Given the description of an element on the screen output the (x, y) to click on. 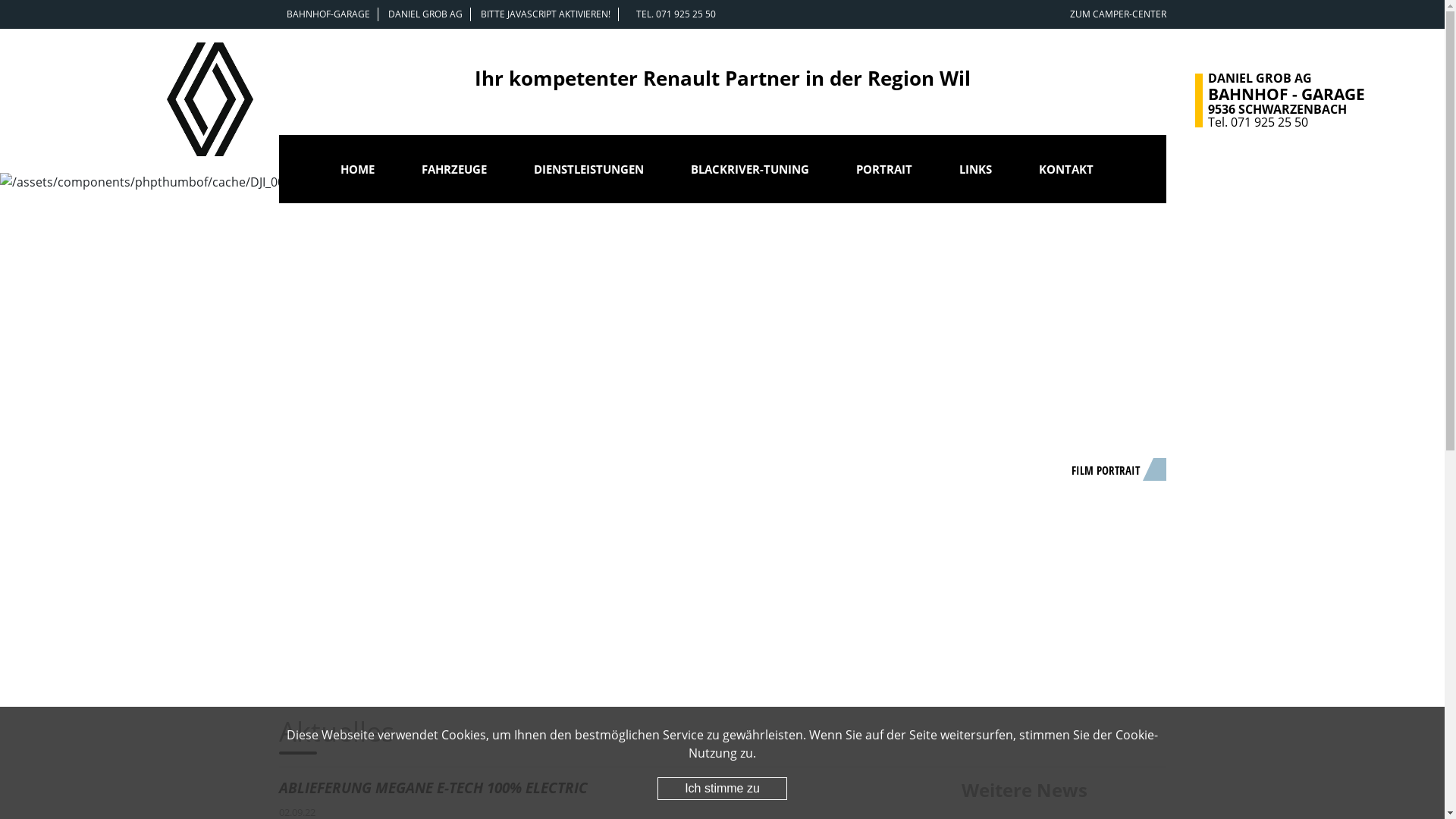
DIENSTLEISTUNGEN Element type: text (588, 170)
KONTAKT Element type: text (1065, 170)
BLACKRIVER-TUNING Element type: text (749, 170)
PORTRAIT Element type: text (883, 170)
LINKS Element type: text (974, 170)
HOME Element type: text (356, 170)
Ich stimme zu Element type: text (722, 788)
Tel. 071 925 25 50 Element type: text (1258, 121)
FILM PORTRAIT Element type: text (1113, 469)
Bahnhof Garage Daniel Grob Element type: hover (210, 97)
FAHRZEUGE Element type: text (453, 170)
ZUM CAMPER-CENTER Element type: text (1117, 13)
TEL. 071 925 25 50 Element type: text (675, 13)
